Given the description of an element on the screen output the (x, y) to click on. 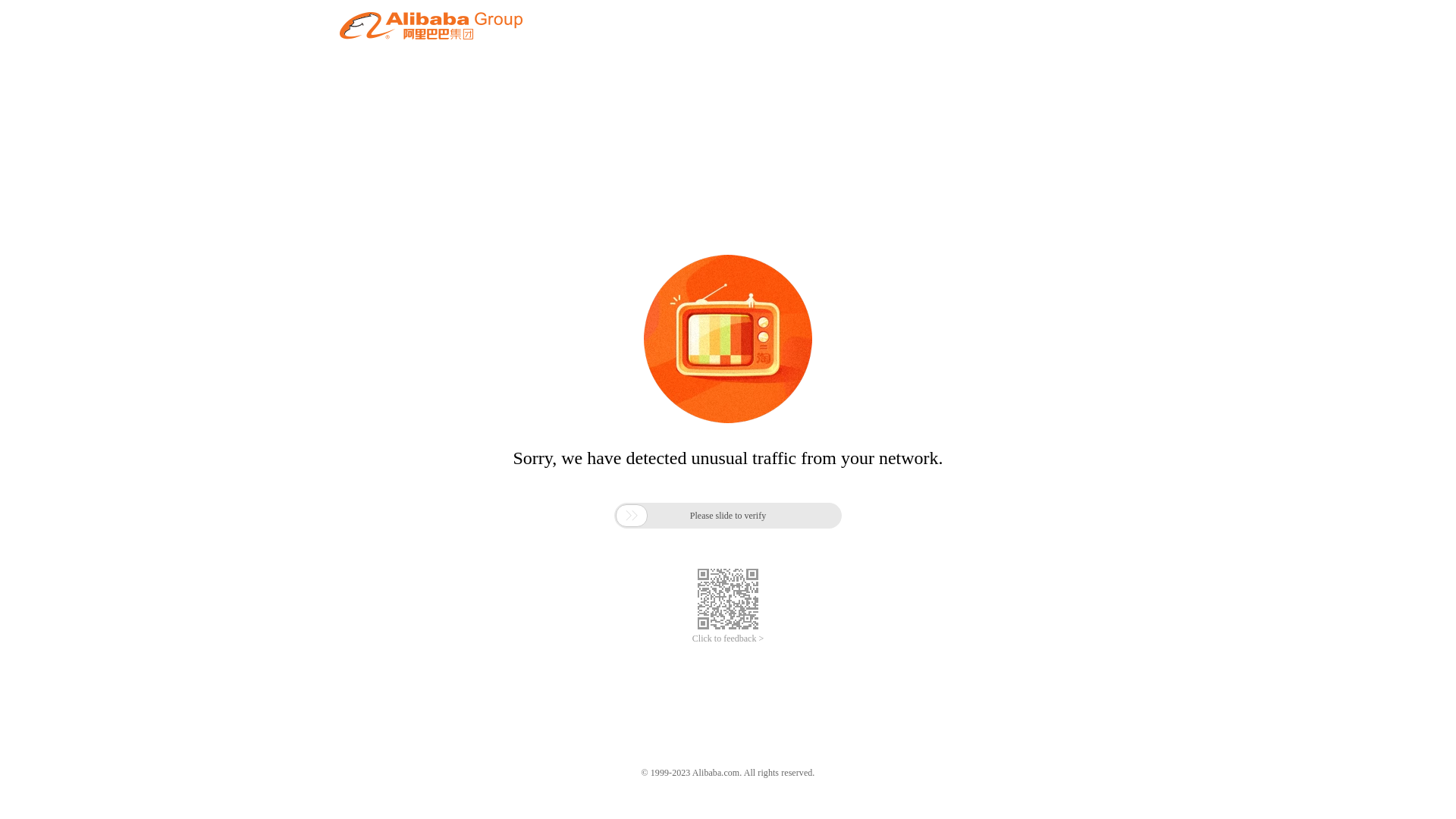
Click to feedback > Element type: text (727, 638)
